Given the description of an element on the screen output the (x, y) to click on. 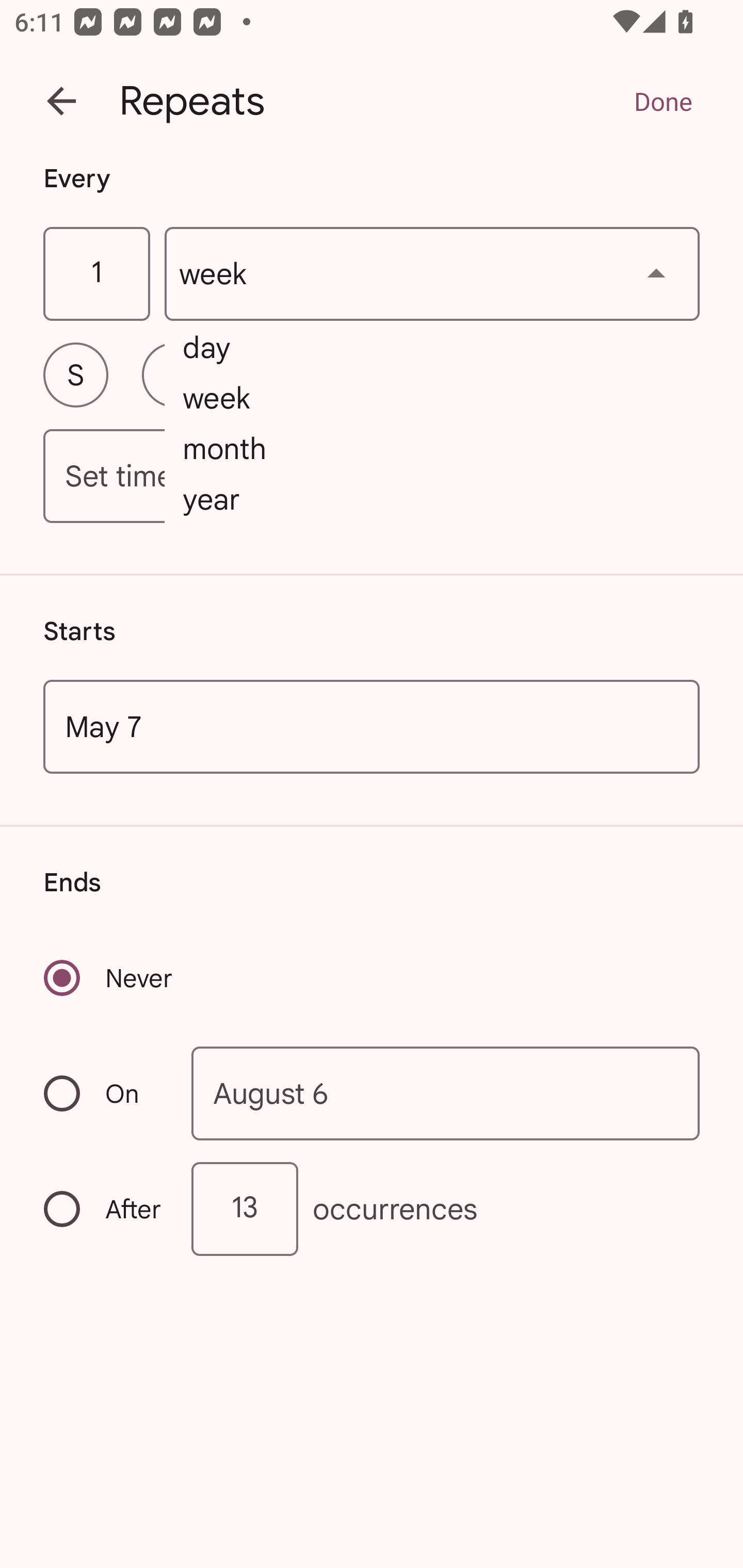
Back (61, 101)
Done (663, 101)
1 (96, 274)
week (431, 274)
Show dropdown menu (655, 273)
S Sunday (75, 374)
Set time (371, 476)
May 7 (371, 726)
Never Recurrence never ends (109, 978)
August 6 (445, 1092)
On Recurrence ends on a specific date (104, 1093)
13 (244, 1208)
